Given the description of an element on the screen output the (x, y) to click on. 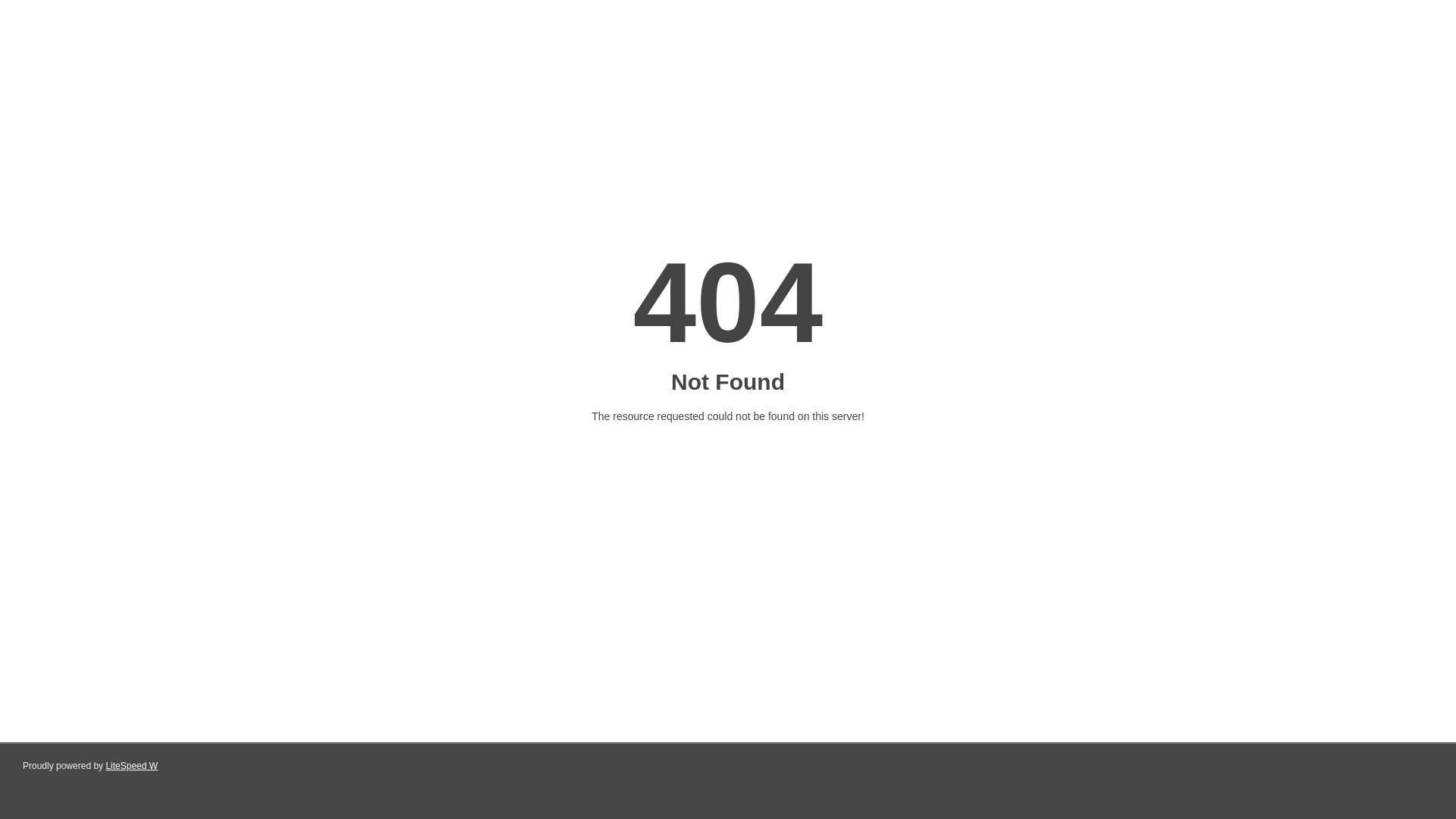
LiteSpeed W Element type: text (131, 765)
